Given the description of an element on the screen output the (x, y) to click on. 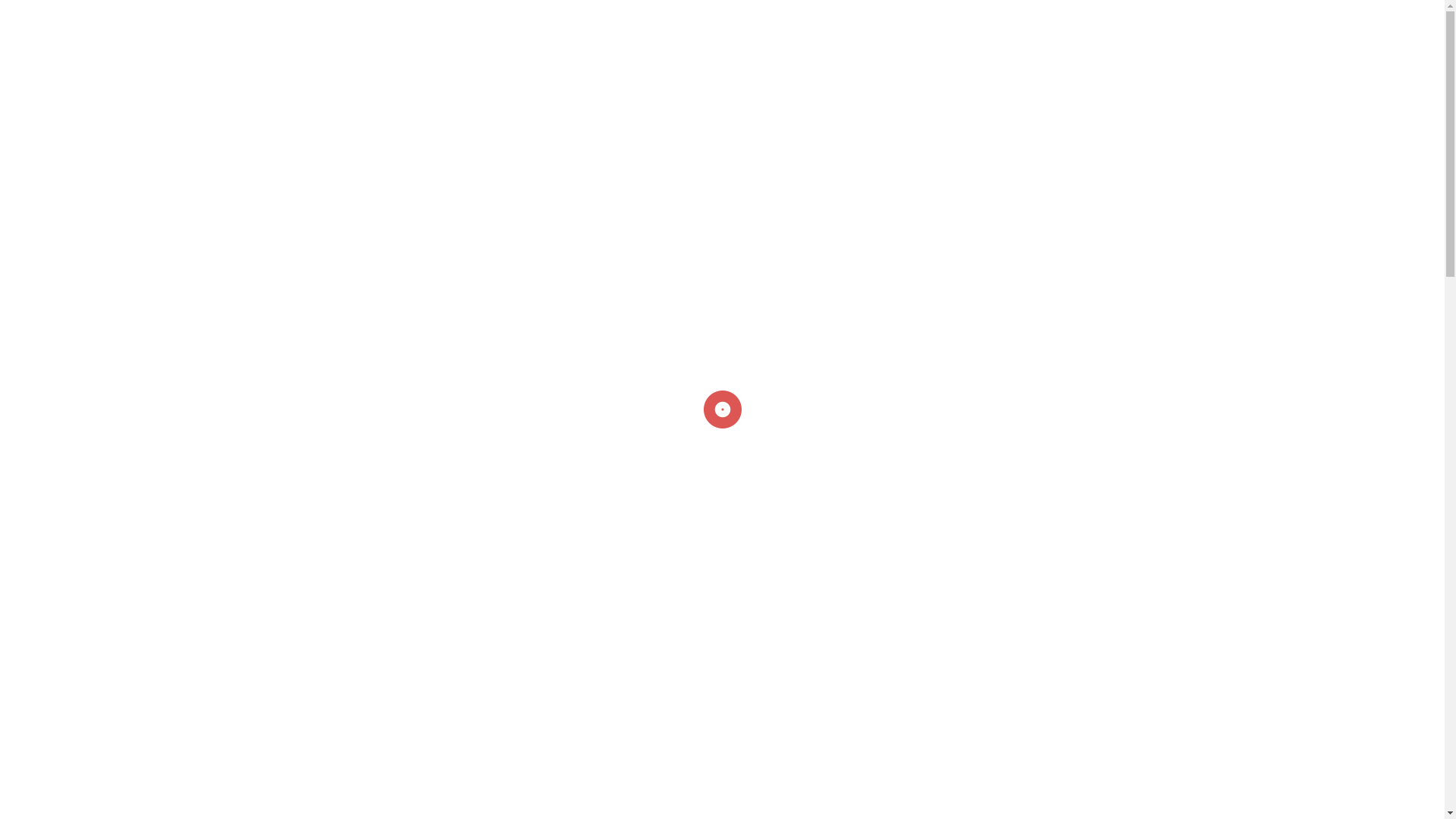
BETONZAAGWERKEN Element type: text (346, 18)
CONTACT Element type: text (520, 18)
ELECTRICITEITSWERKEN Element type: text (113, 18)
015 23 65 61 Element type: text (1383, 17)
CONTACT Element type: text (520, 16)
FOTOGALERIJ Element type: text (448, 16)
fotogalerij Element type: text (495, 531)
HOME Element type: text (22, 18)
FOTOGALERIJ Element type: text (448, 18)
privacyverklaring Element type: text (1341, 197)
BETONBORINGEN Element type: text (233, 16)
ELECTRICITEITSWERKEN Element type: text (113, 16)
CONTACTEER ONS Element type: text (311, 712)
HOME Element type: text (22, 16)
BETONBORINGEN Element type: text (233, 18)
ACCEPTEREN Element type: text (1342, 227)
BETONZAAGWERKEN Element type: text (346, 16)
